Given the description of an element on the screen output the (x, y) to click on. 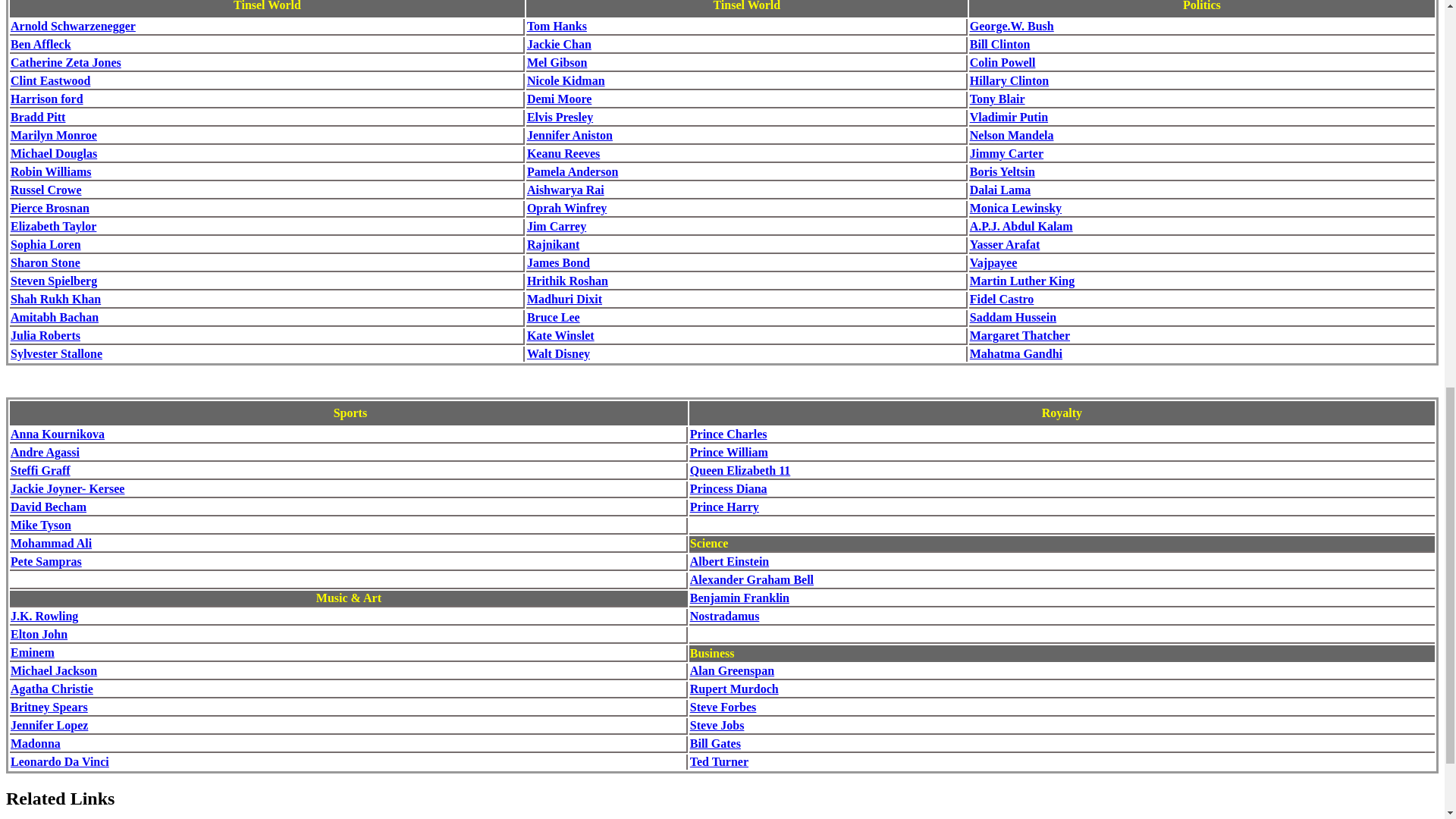
Bill Clinton (999, 43)
Vladimir Putin (1008, 116)
Ben Affleck (40, 43)
Bradd Pitt (37, 116)
Colin Powell (1002, 62)
Tony Blair (997, 98)
Clint Eastwood (50, 80)
George.W. Bush (1011, 25)
Nelson Mandela (1011, 134)
Demi Moore (559, 98)
Marilyn Monroe (53, 134)
Mel Gibson (557, 62)
Harrison ford (46, 98)
Hillary Clinton (1008, 80)
Catherine Zeta Jones (65, 62)
